Given the description of an element on the screen output the (x, y) to click on. 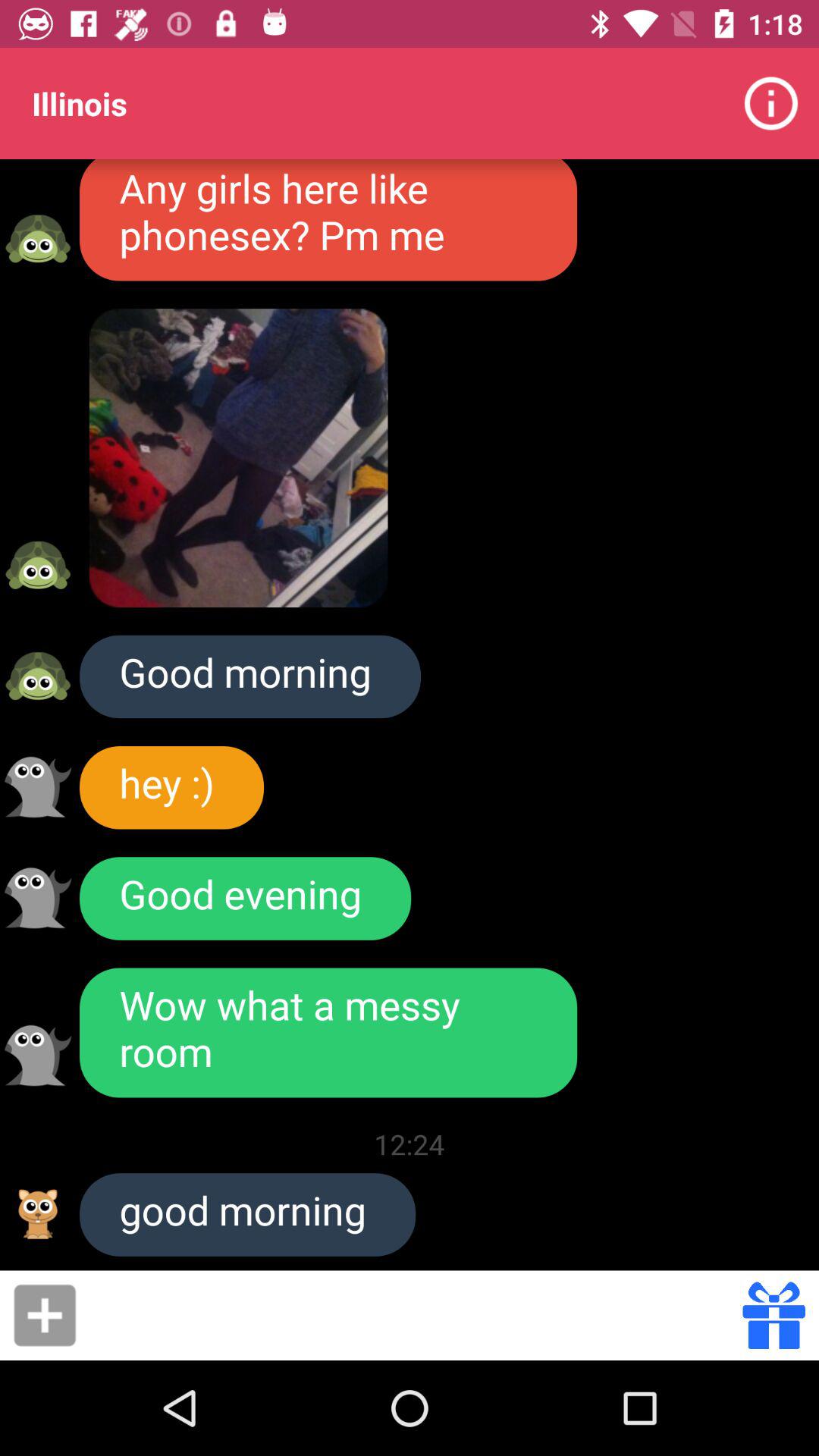
click add (44, 1315)
